Given the description of an element on the screen output the (x, y) to click on. 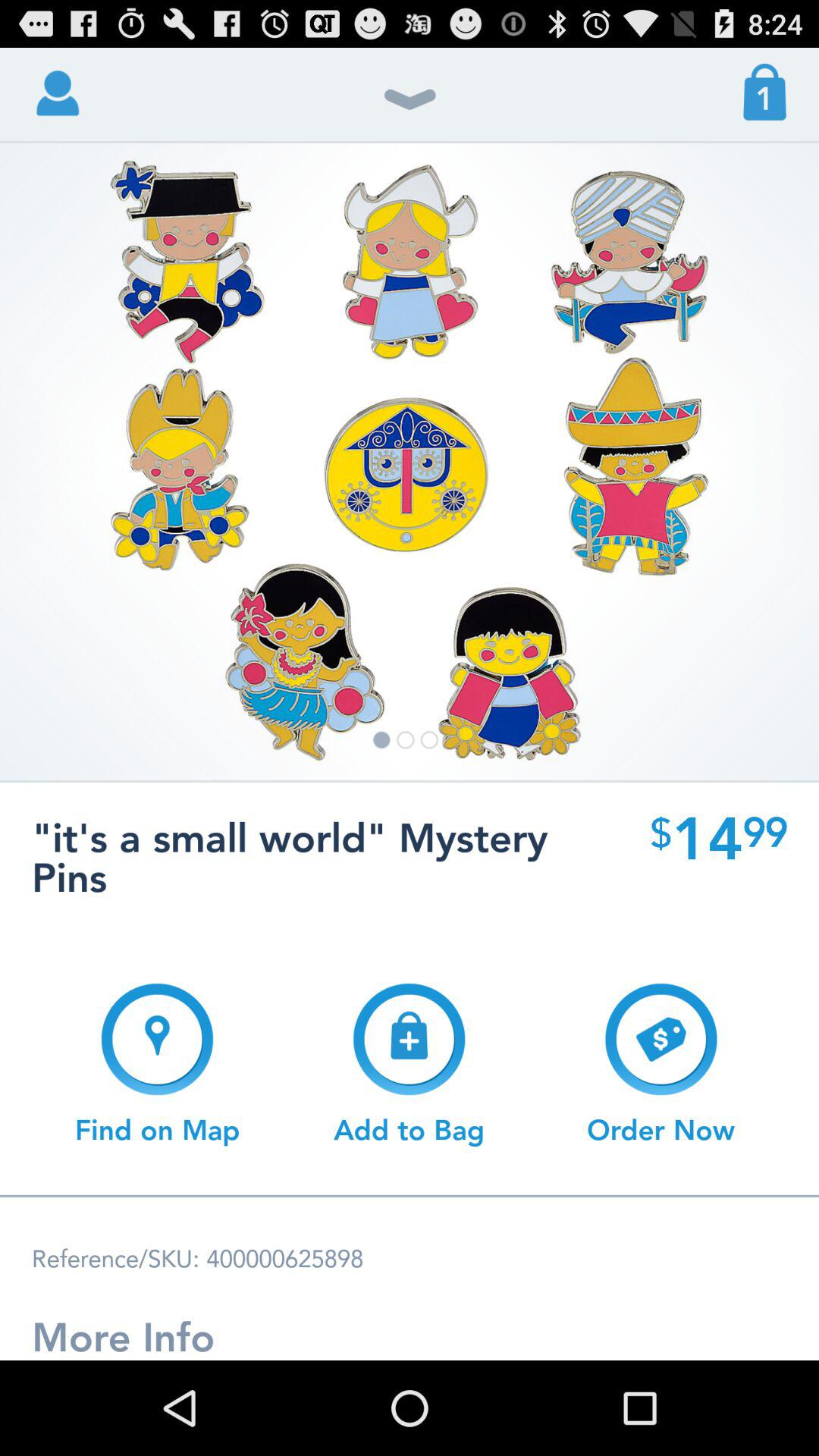
select the button next to find on map (408, 1064)
